Given the description of an element on the screen output the (x, y) to click on. 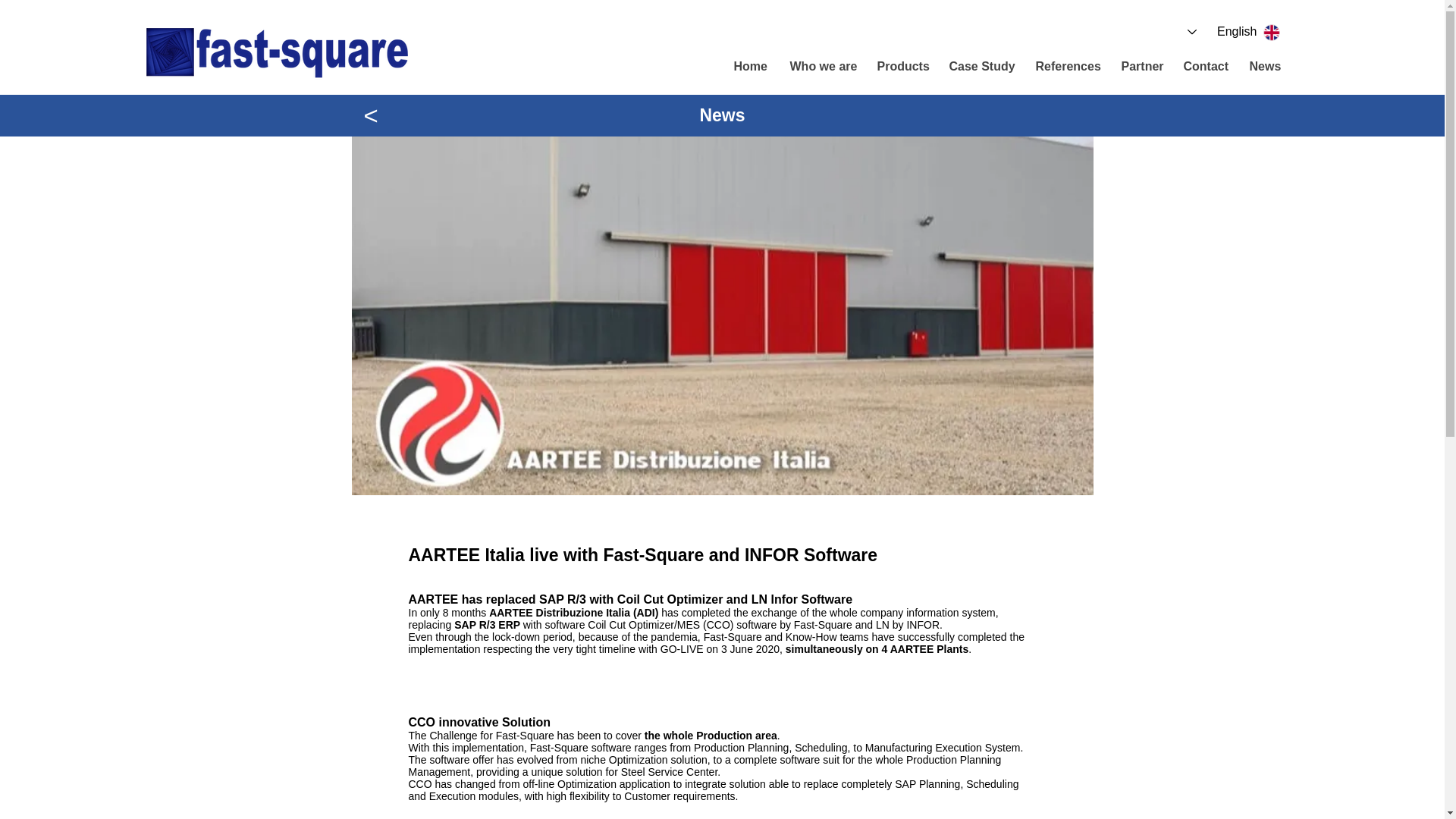
Who we are (820, 66)
Case Study (980, 66)
Contact (1203, 66)
Products (900, 66)
News (1264, 66)
AARTEE (510, 612)
Partner (1139, 66)
Home (749, 66)
References (1066, 66)
